Given the description of an element on the screen output the (x, y) to click on. 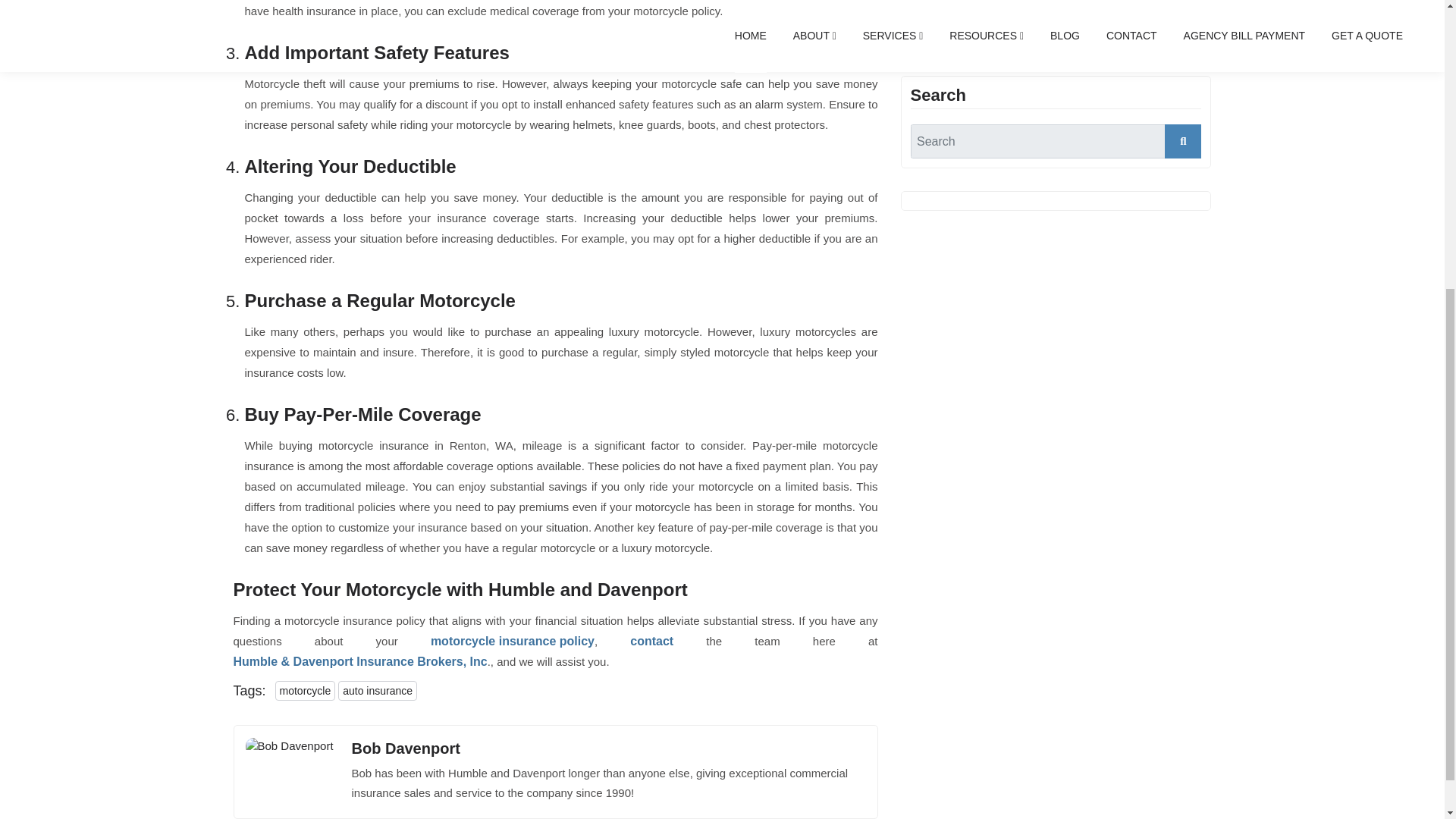
motorcycle insurance policy (512, 640)
motorcycle (305, 690)
Bob Davenport (406, 748)
auto insurance (376, 690)
contact (651, 640)
